Given the description of an element on the screen output the (x, y) to click on. 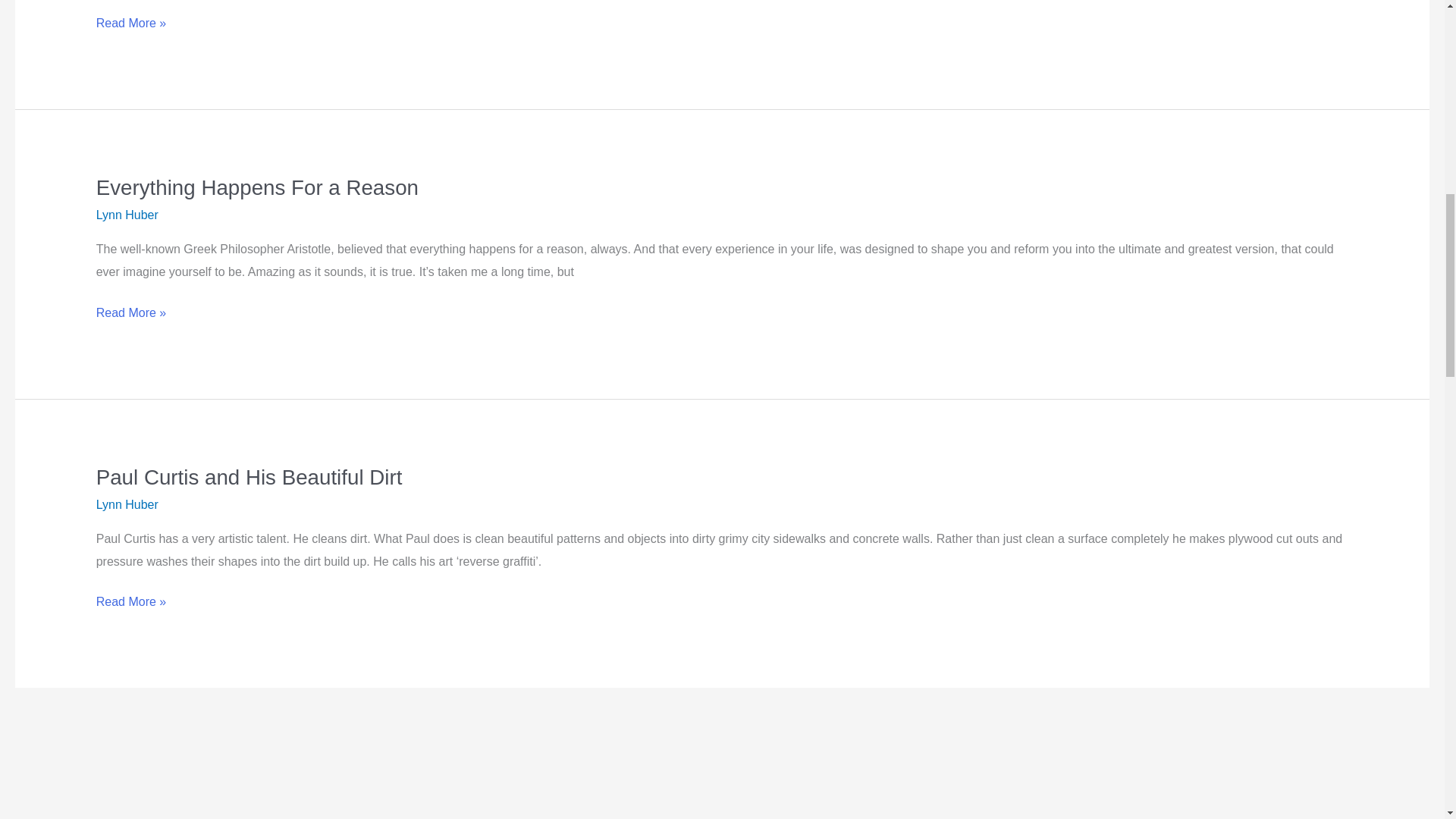
View all posts by Lynn Huber (127, 214)
Everything Happens For a Reason (257, 187)
Paul Curtis and His Beautiful Dirt (249, 477)
View all posts by Lynn Huber (127, 504)
Lynn Huber (127, 214)
Lynn Huber (127, 504)
